Given the description of an element on the screen output the (x, y) to click on. 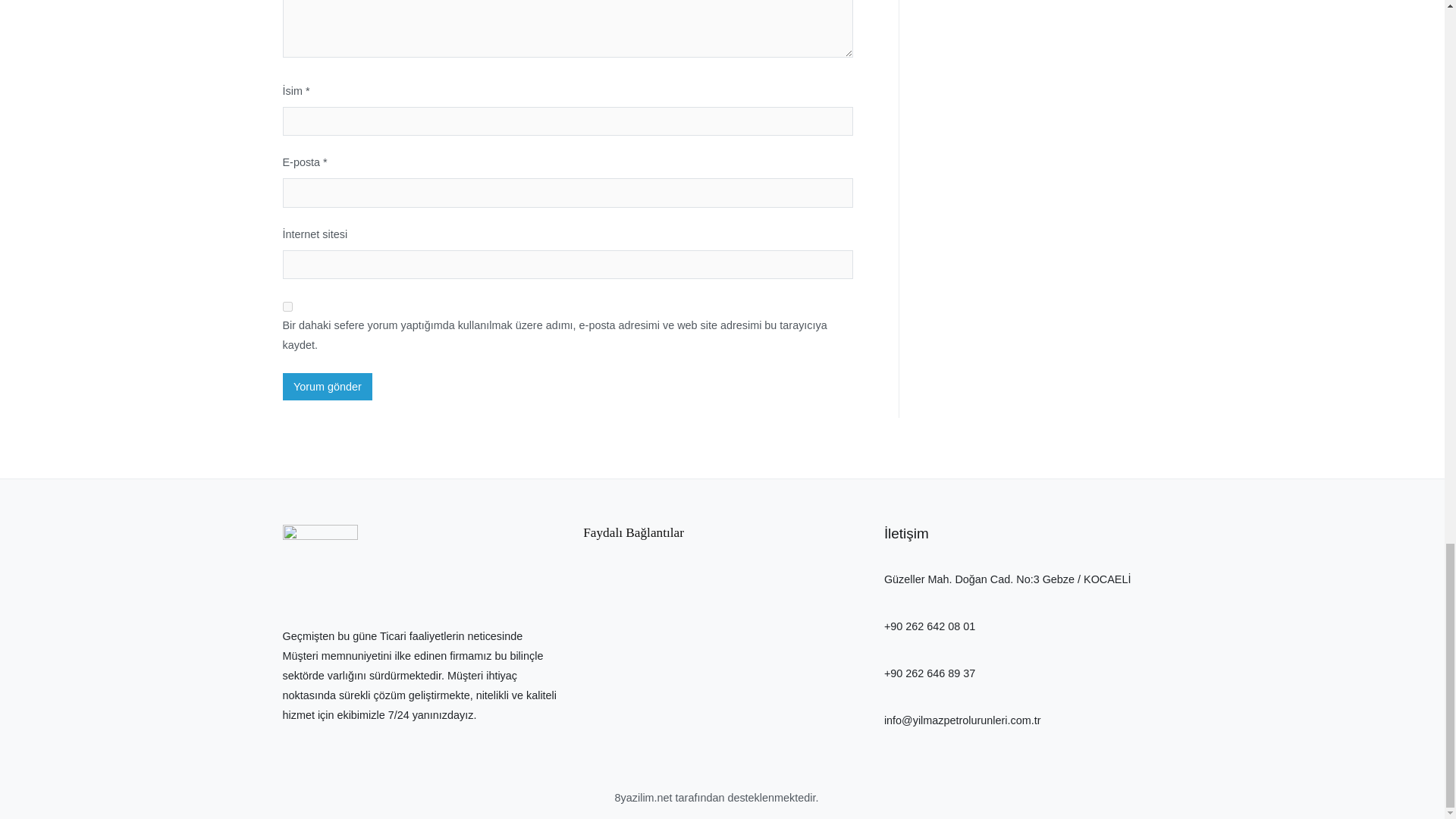
yes (287, 307)
